Given the description of an element on the screen output the (x, y) to click on. 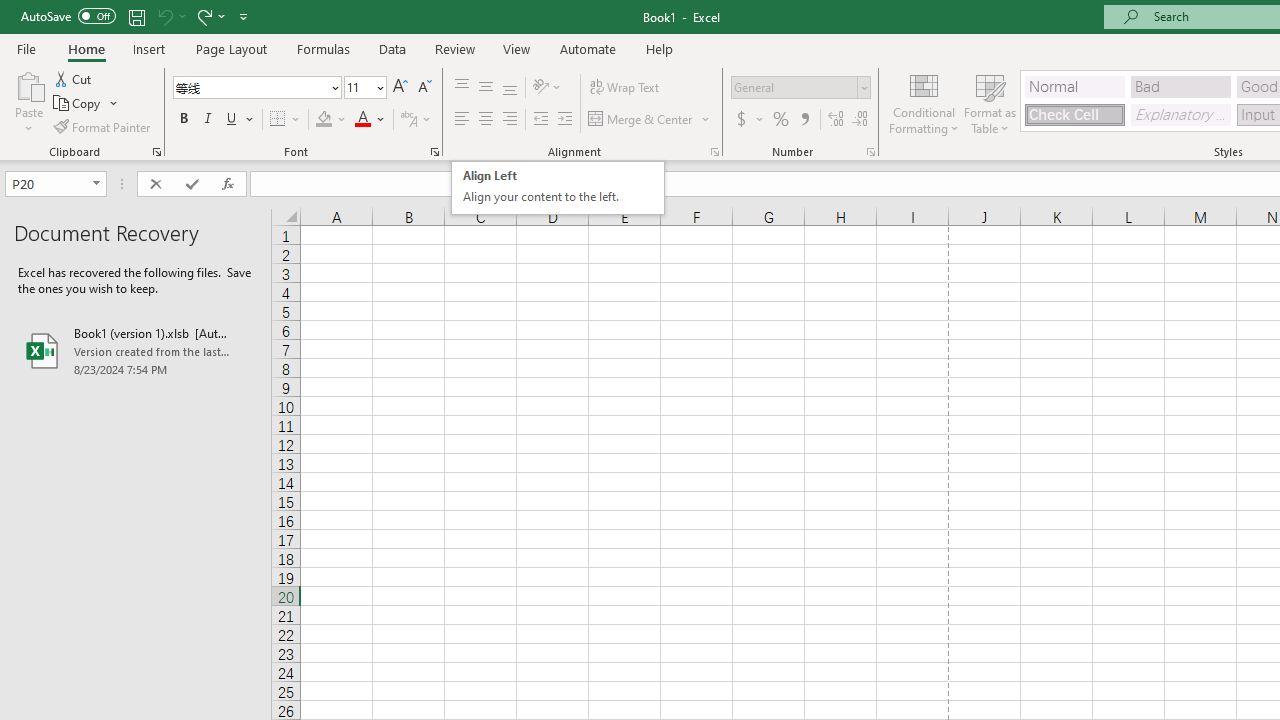
Book1 (version 1).xlsb  [AutoRecovered] (136, 350)
AutoSave (68, 16)
Bad (1180, 86)
Middle Align (485, 87)
Wrap Text (624, 87)
Decrease Decimal (859, 119)
Copy (78, 103)
Font (256, 87)
Percent Style (781, 119)
